Given the description of an element on the screen output the (x, y) to click on. 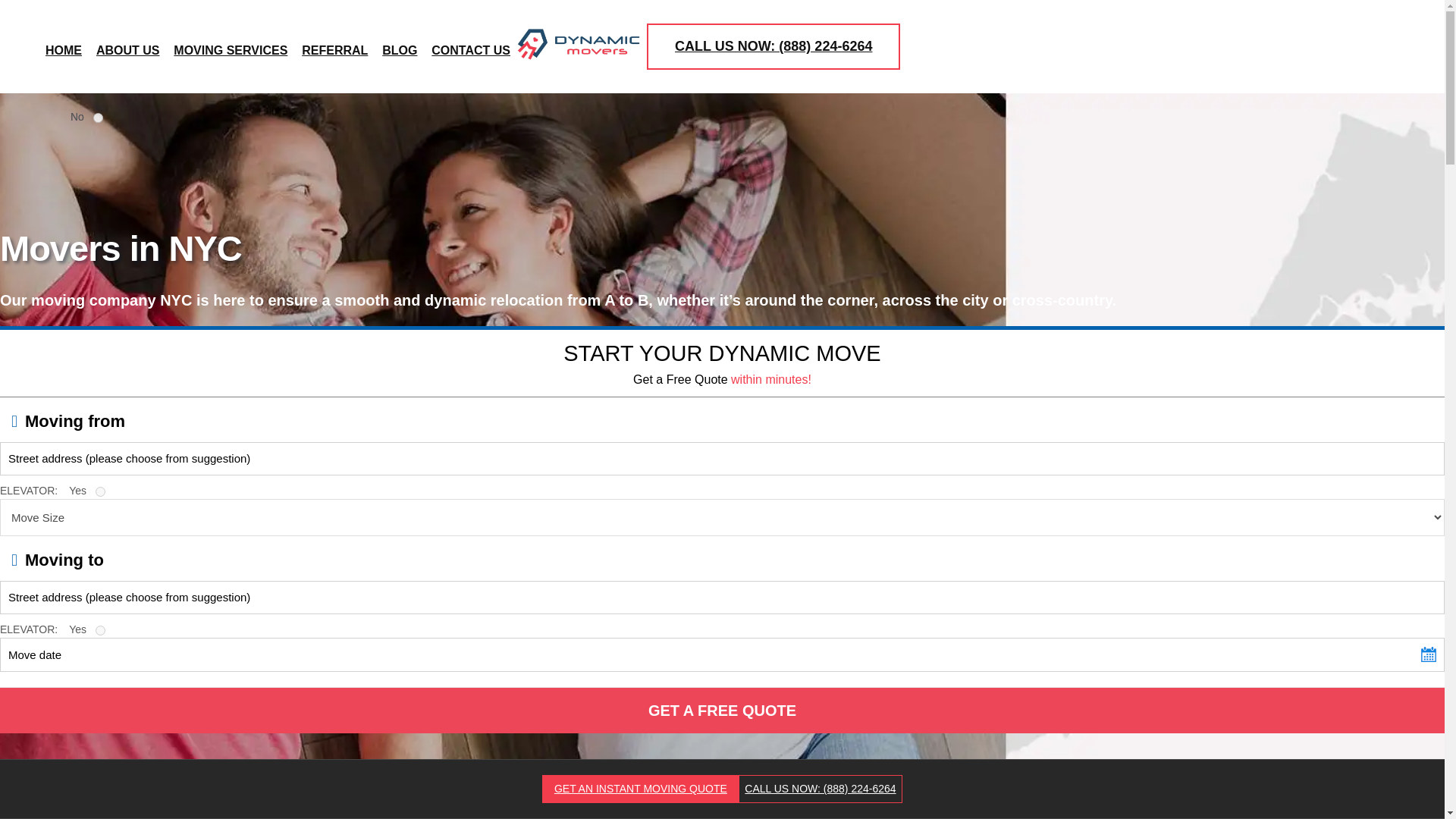
HOME (63, 46)
ABOUT US (128, 46)
1 (98, 117)
0 (100, 491)
1 (98, 117)
0 (100, 630)
MOVING SERVICES (229, 46)
